Given the description of an element on the screen output the (x, y) to click on. 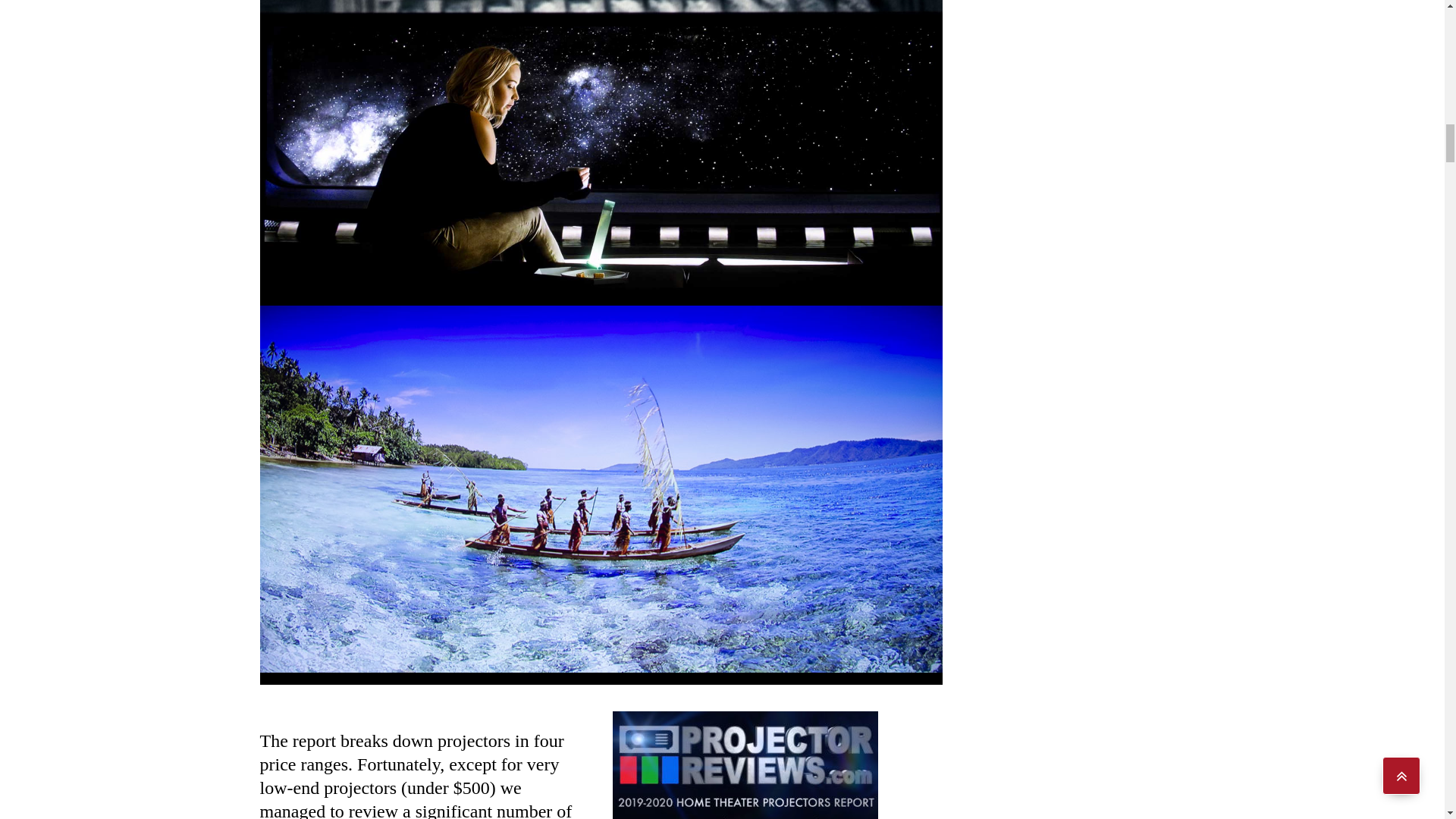
Home-Theater-Report-Best-in-Class-List-of-Winners (744, 765)
